Given the description of an element on the screen output the (x, y) to click on. 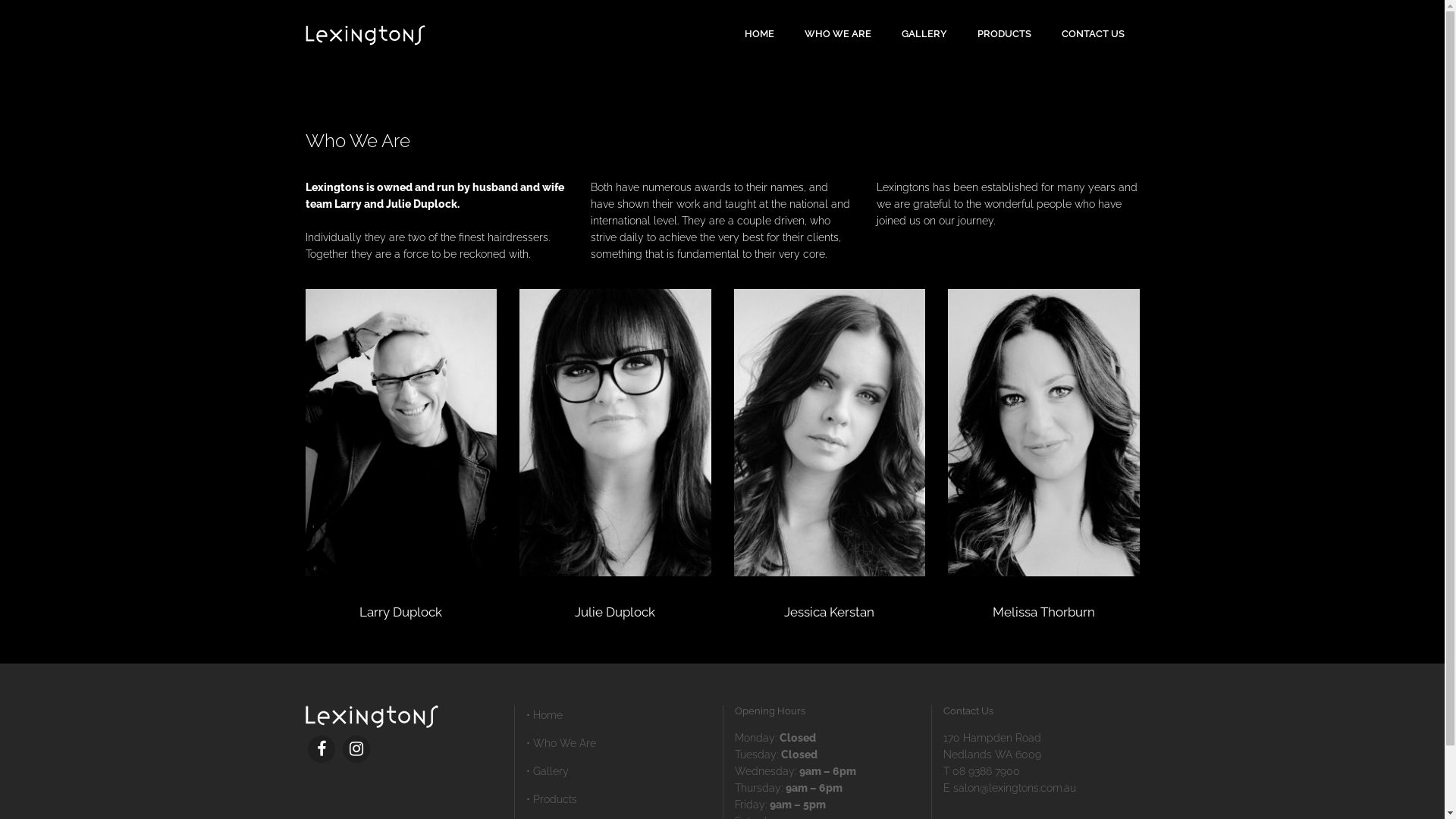
PRODUCTS Element type: text (1003, 34)
Larry Element type: hover (400, 432)
HOME Element type: text (759, 34)
Jessie Element type: hover (829, 432)
CONTACT US Element type: text (1092, 34)
GALLERY Element type: text (923, 34)
julie Element type: hover (615, 432)
WHO WE ARE Element type: text (836, 34)
Mel Element type: hover (1043, 432)
